Given the description of an element on the screen output the (x, y) to click on. 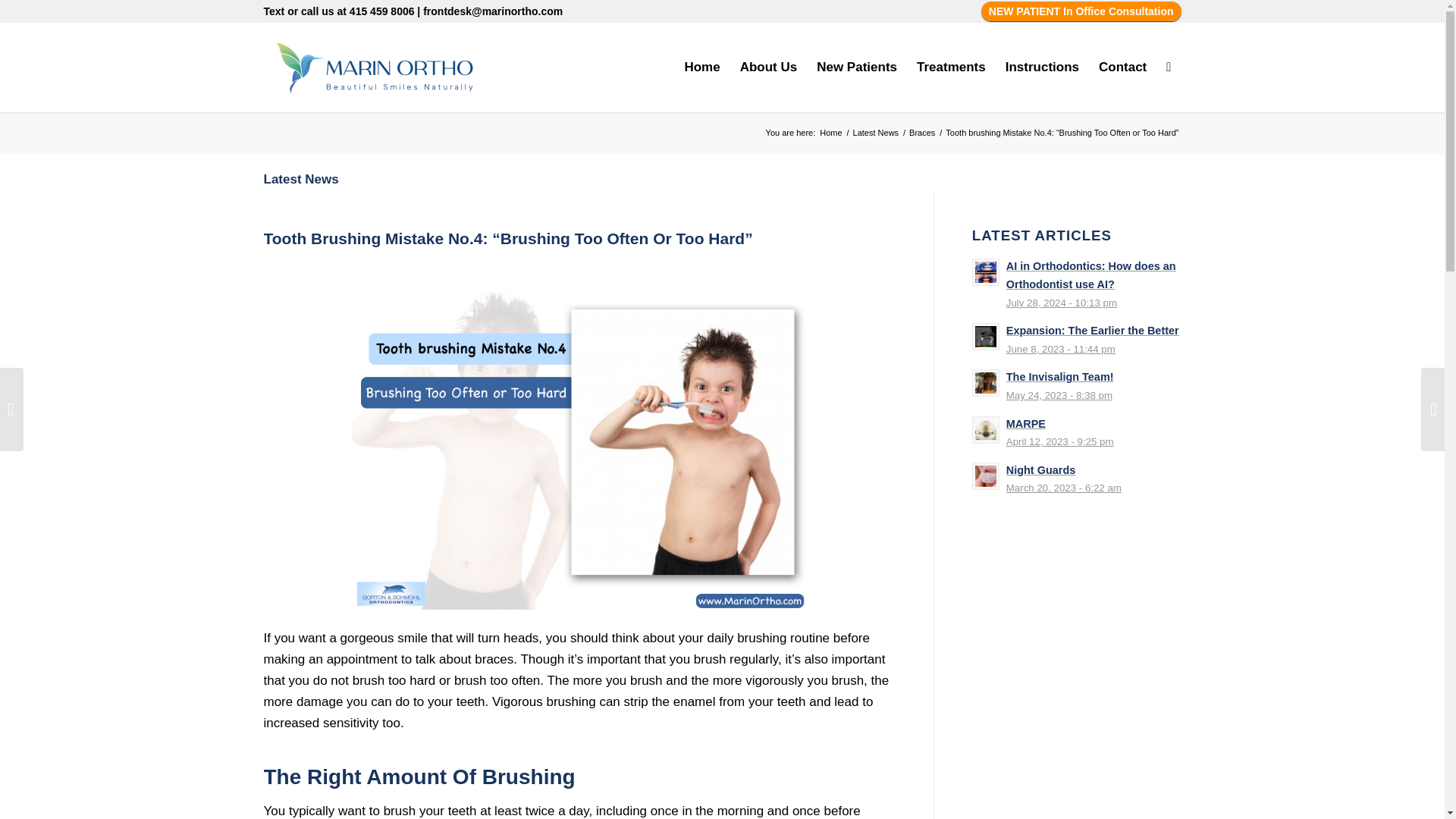
Permanent Link: Latest News (301, 178)
415 459 8006 (381, 10)
Instructions (1042, 67)
Treatments (951, 67)
New Patients (856, 67)
NEW PATIENT In Office Consultation (1080, 11)
Latest News (875, 132)
Marin Ortho (830, 132)
